Given the description of an element on the screen output the (x, y) to click on. 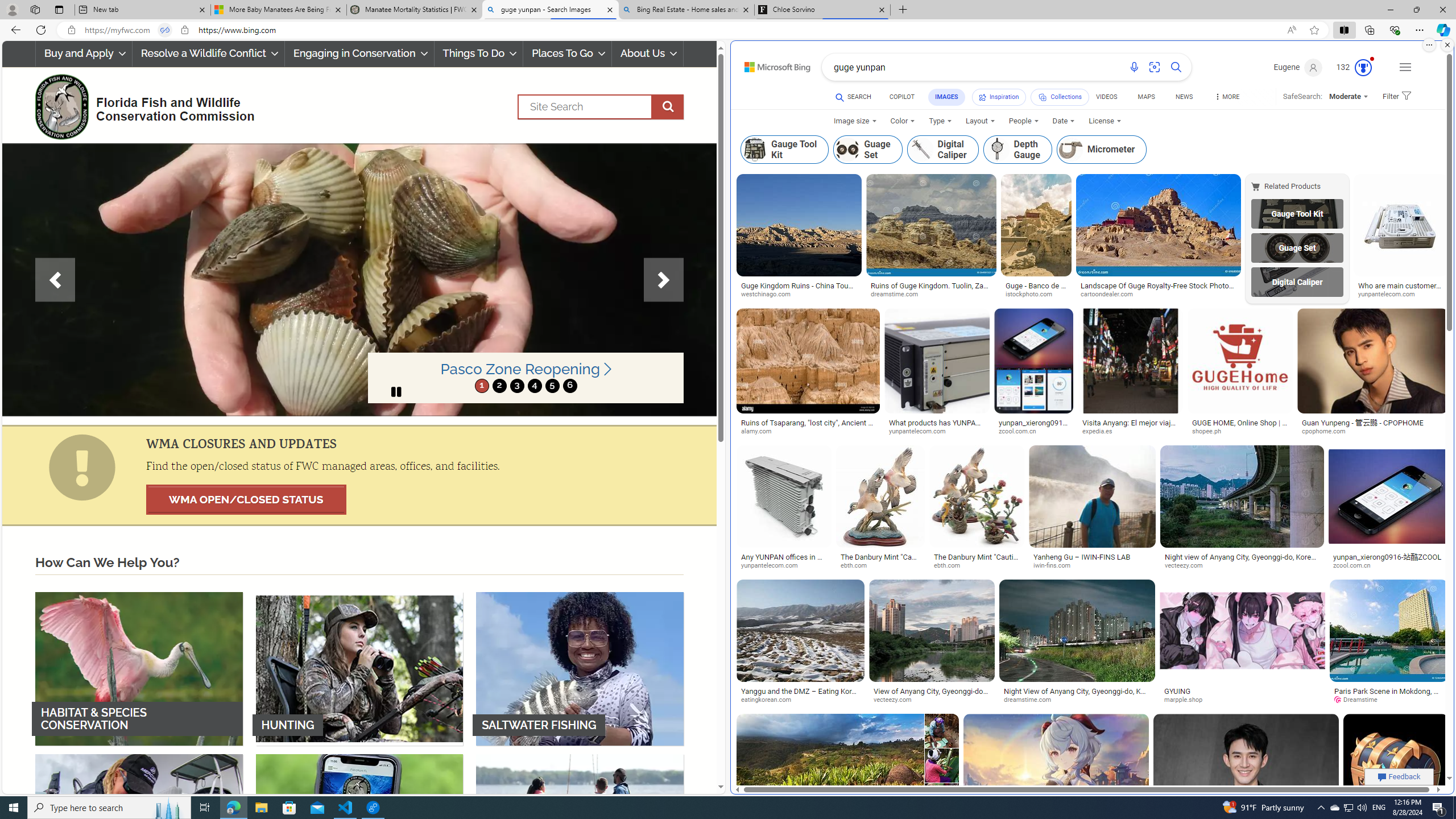
alamy.com (760, 430)
Digital Caliper (1296, 281)
Resolve a Wildlife Conflict (207, 53)
Search using an image (1154, 66)
5 (551, 385)
vecteezy.com (896, 699)
Resolve a Wildlife Conflict (208, 53)
